Given the description of an element on the screen output the (x, y) to click on. 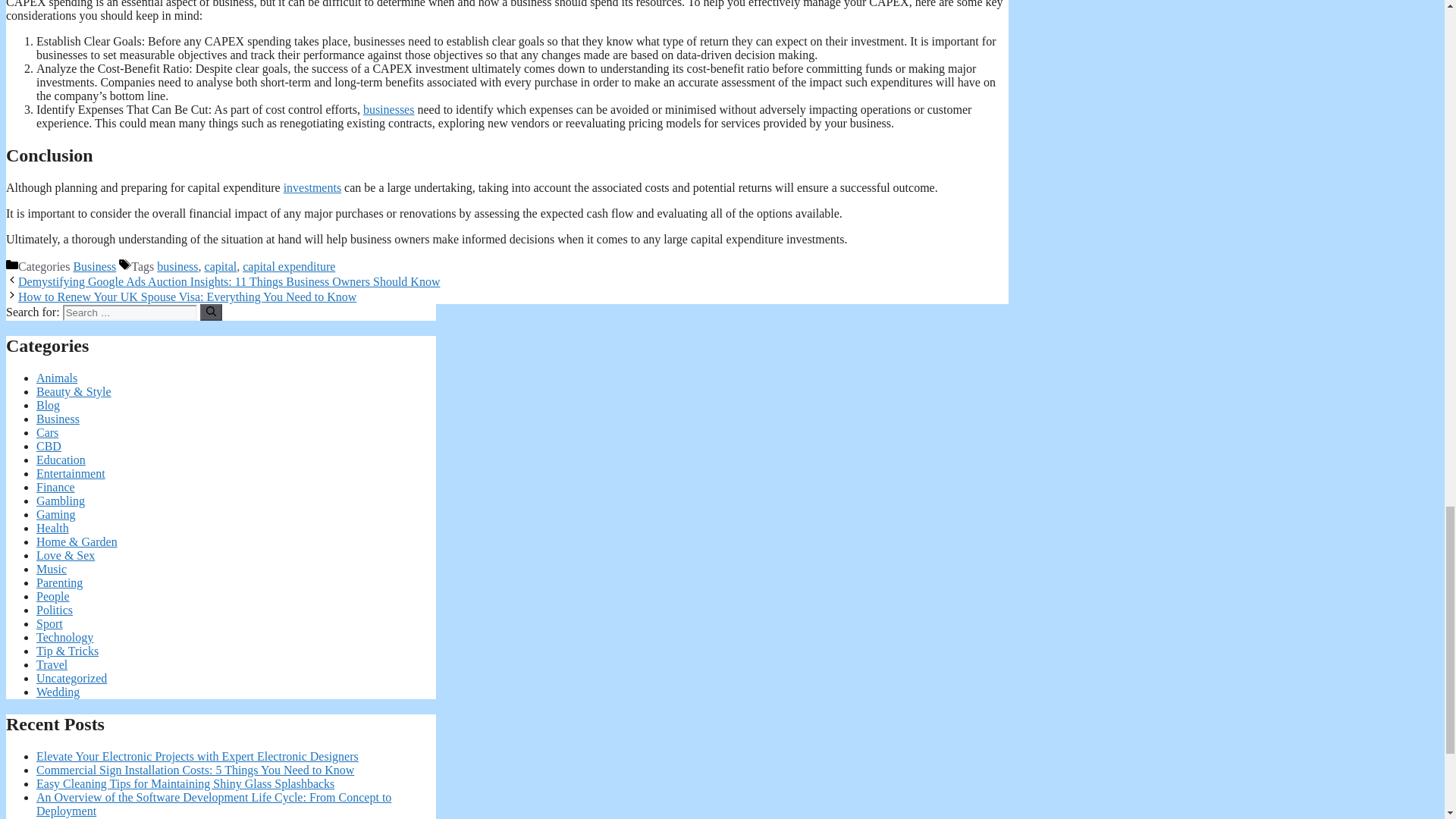
Gambling (60, 500)
investments (311, 187)
Cars (47, 431)
Gaming (55, 513)
businesses (388, 109)
capital (221, 266)
Education (60, 459)
business (177, 266)
Health (52, 527)
Finance (55, 486)
capital expenditure (288, 266)
CBD (48, 445)
Animals (56, 377)
Business (94, 266)
